Given the description of an element on the screen output the (x, y) to click on. 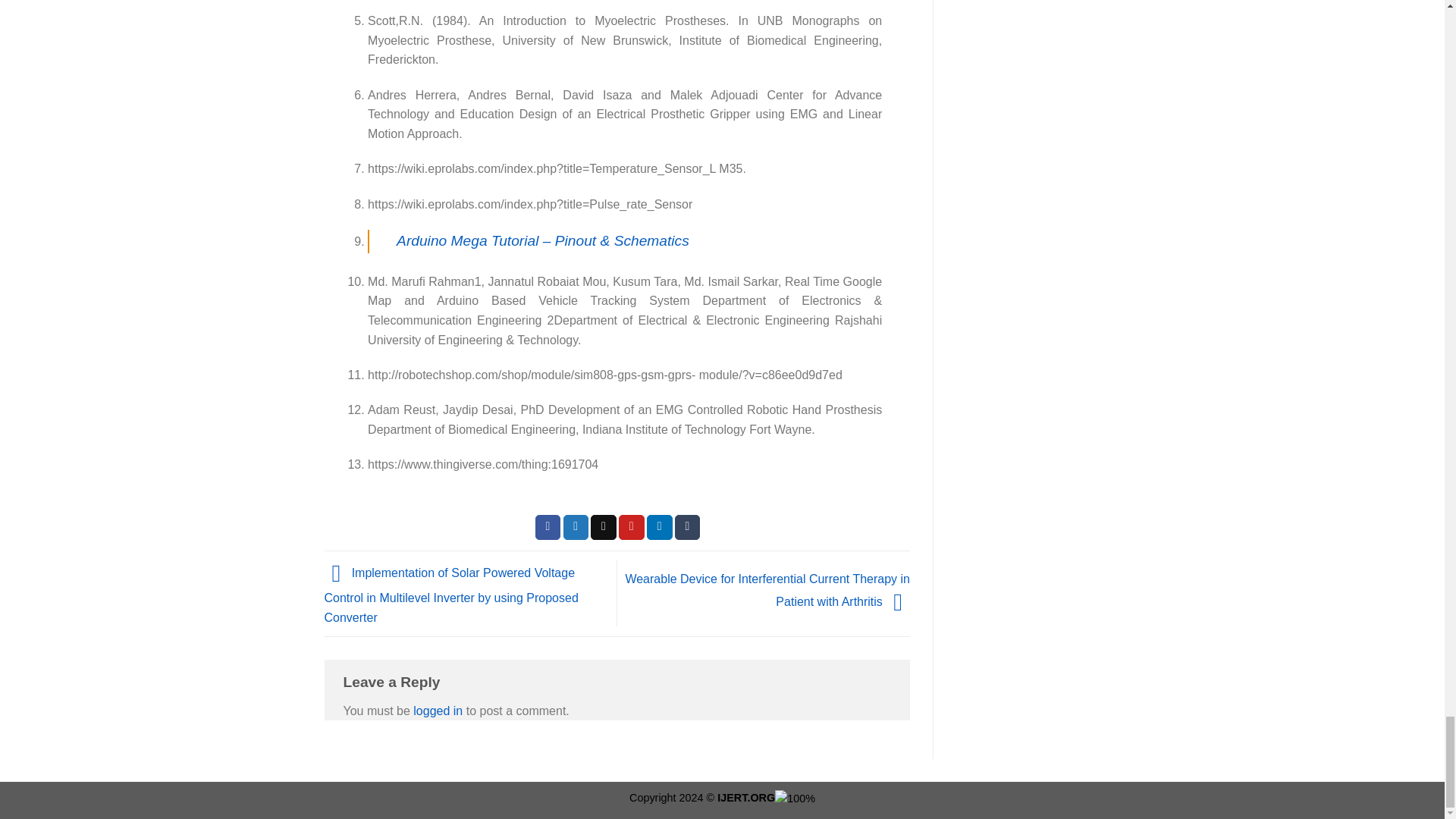
Share on Twitter (576, 527)
Share on LinkedIn (659, 527)
Email to a Friend (603, 527)
Pin on Pinterest (631, 527)
Share on Facebook (547, 527)
